Given the description of an element on the screen output the (x, y) to click on. 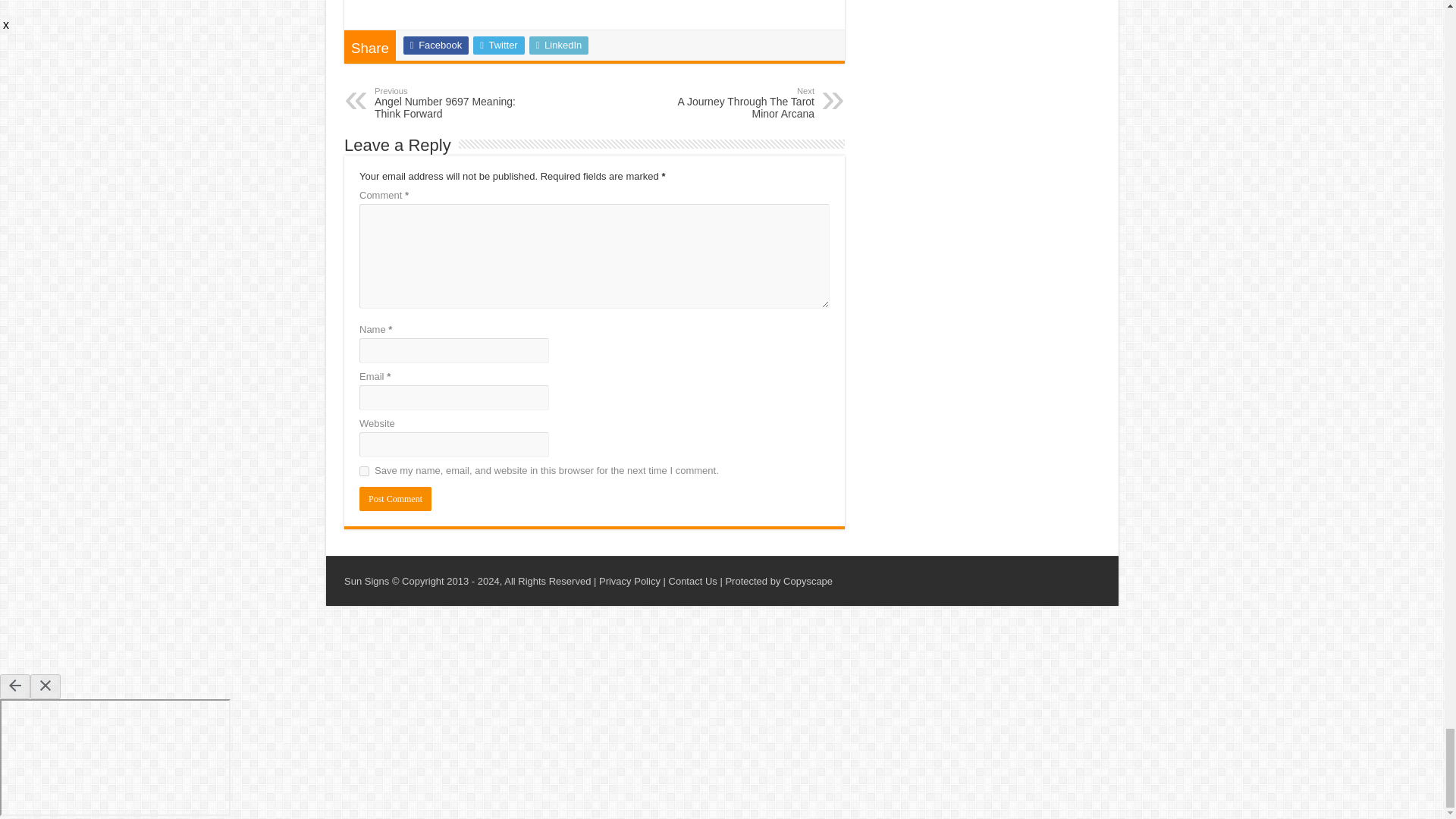
yes (364, 470)
Post Comment (394, 498)
